Given the description of an element on the screen output the (x, y) to click on. 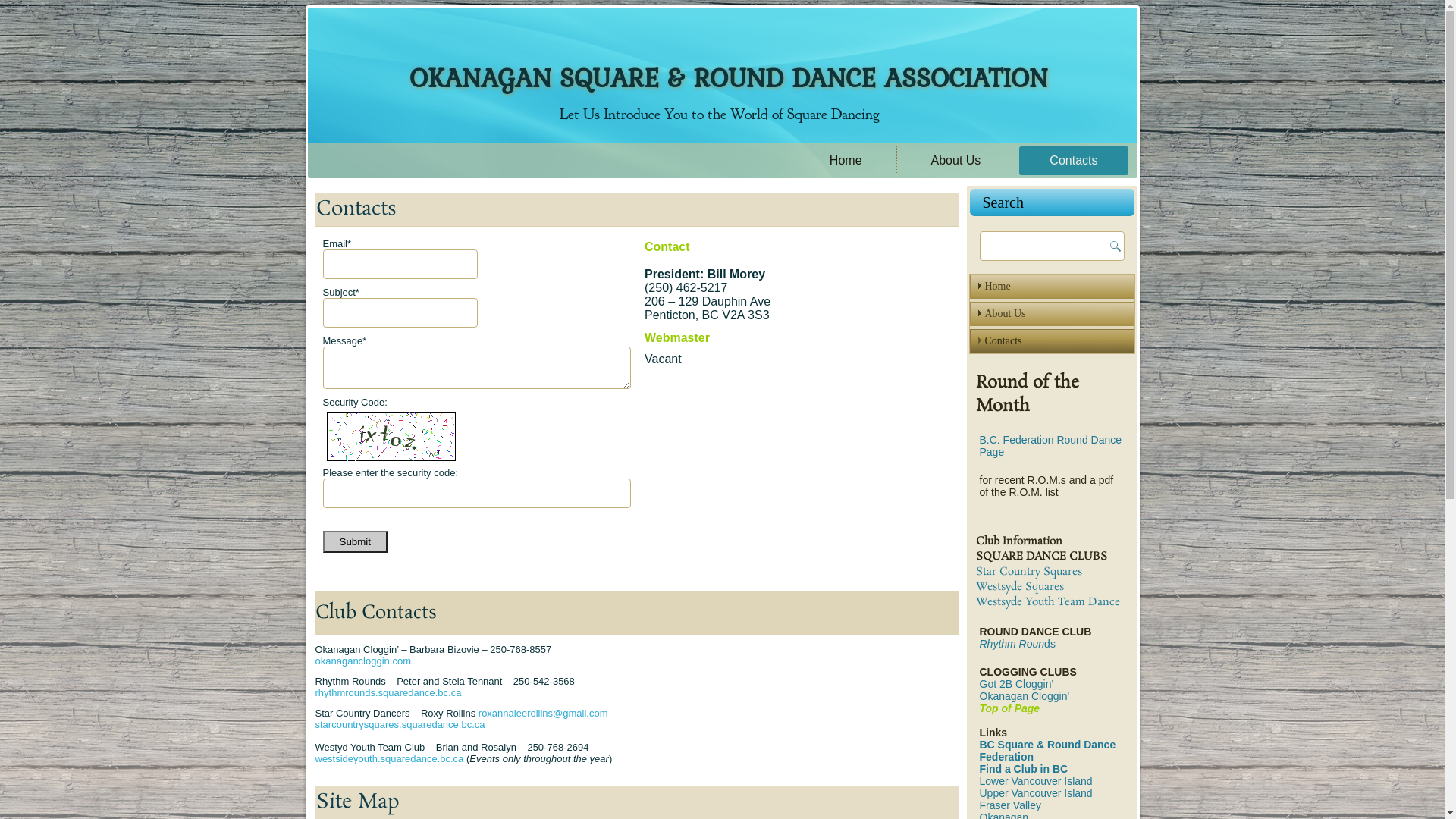
Home Element type: text (1051, 286)
westsideyouth.squaredance.bc.ca Element type: text (389, 758)
rhythmrounds.squaredance.bc.ca Element type: text (388, 692)
starcountrysquares.squaredance.bc.ca Element type: text (400, 724)
Got 2B Cloggin' Element type: text (1016, 683)
Find a Club in BC Element type: text (1023, 768)
Westsyde Squares Element type: text (1019, 586)
Westsyde Youth Team Dance Element type: text (1047, 601)
Okanagan Cloggin' Element type: text (1024, 696)
Lower Vancouver Island Element type: text (1035, 781)
Fraser Valley Element type: text (1010, 805)
Home Element type: text (845, 160)
Top of Page Element type: text (1009, 708)
Upper Vancouver Island Element type: text (1035, 793)
okanagancloggin.com Element type: text (363, 660)
B.C. Federation Round Dance Page Element type: text (1050, 445)
ds Element type: text (1049, 643)
Rhythm Roun Element type: text (1011, 643)
OKANAGAN SQUARE & ROUND DANCE ASSOCIATION Element type: text (728, 77)
Contacts Element type: text (1073, 160)
Contacts Element type: text (1051, 341)
roxannaleerollins@gmail.com Element type: text (543, 712)
Star Country Squares Element type: text (1028, 571)
About Us Element type: text (1051, 313)
Submit Element type: text (355, 541)
BC Square & Round Dance Federation Element type: text (1047, 750)
About Us Element type: text (955, 160)
